Given the description of an element on the screen output the (x, y) to click on. 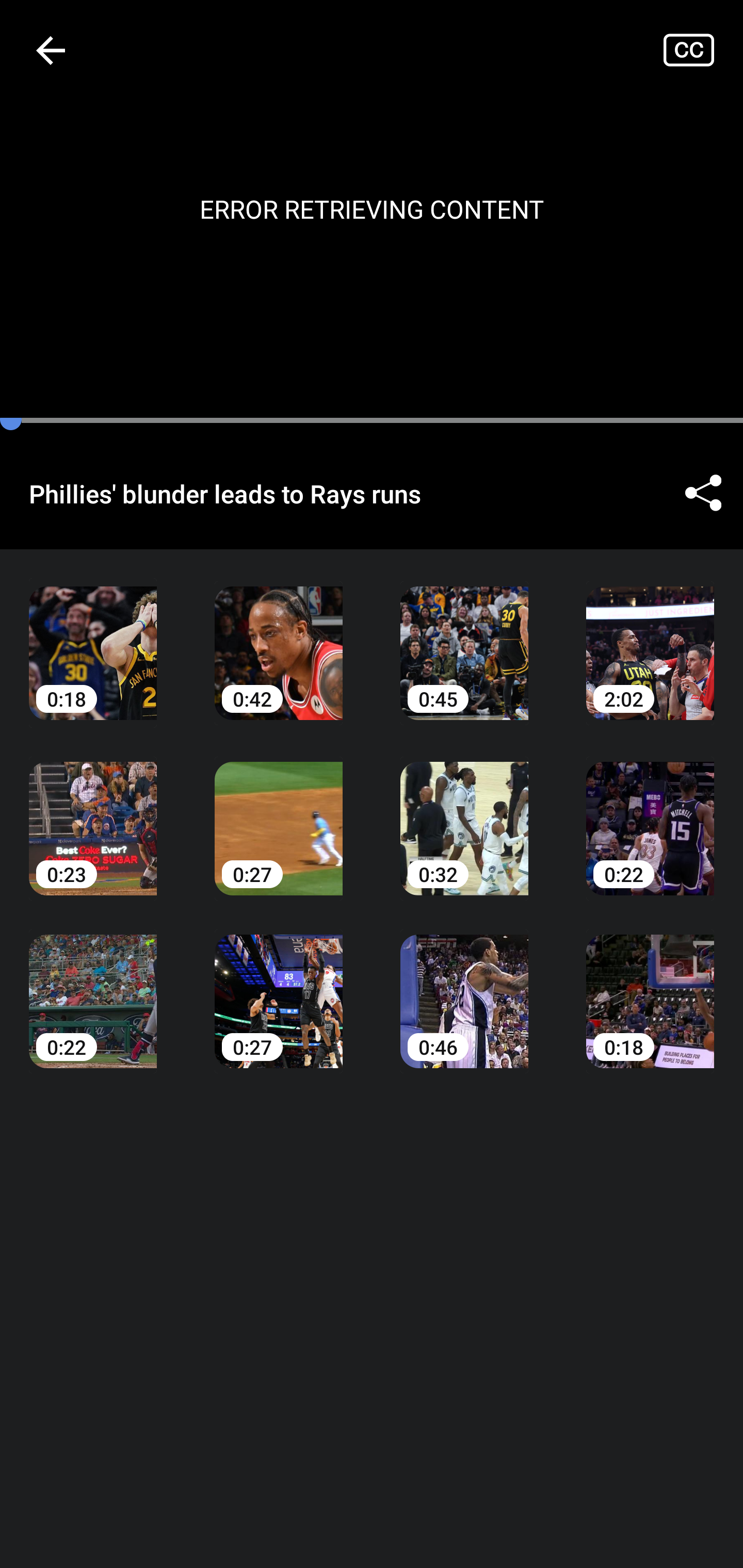
Navigate up (50, 50)
Closed captions  (703, 49)
Share © (703, 493)
0:18 (92, 637)
0:42 (278, 637)
0:45 (464, 637)
2:02 (650, 637)
0:23 (92, 813)
0:27 (278, 813)
0:32 (464, 813)
0:22 (650, 813)
0:22 (92, 987)
0:27 (278, 987)
0:46 (464, 987)
0:18 (650, 987)
